Given the description of an element on the screen output the (x, y) to click on. 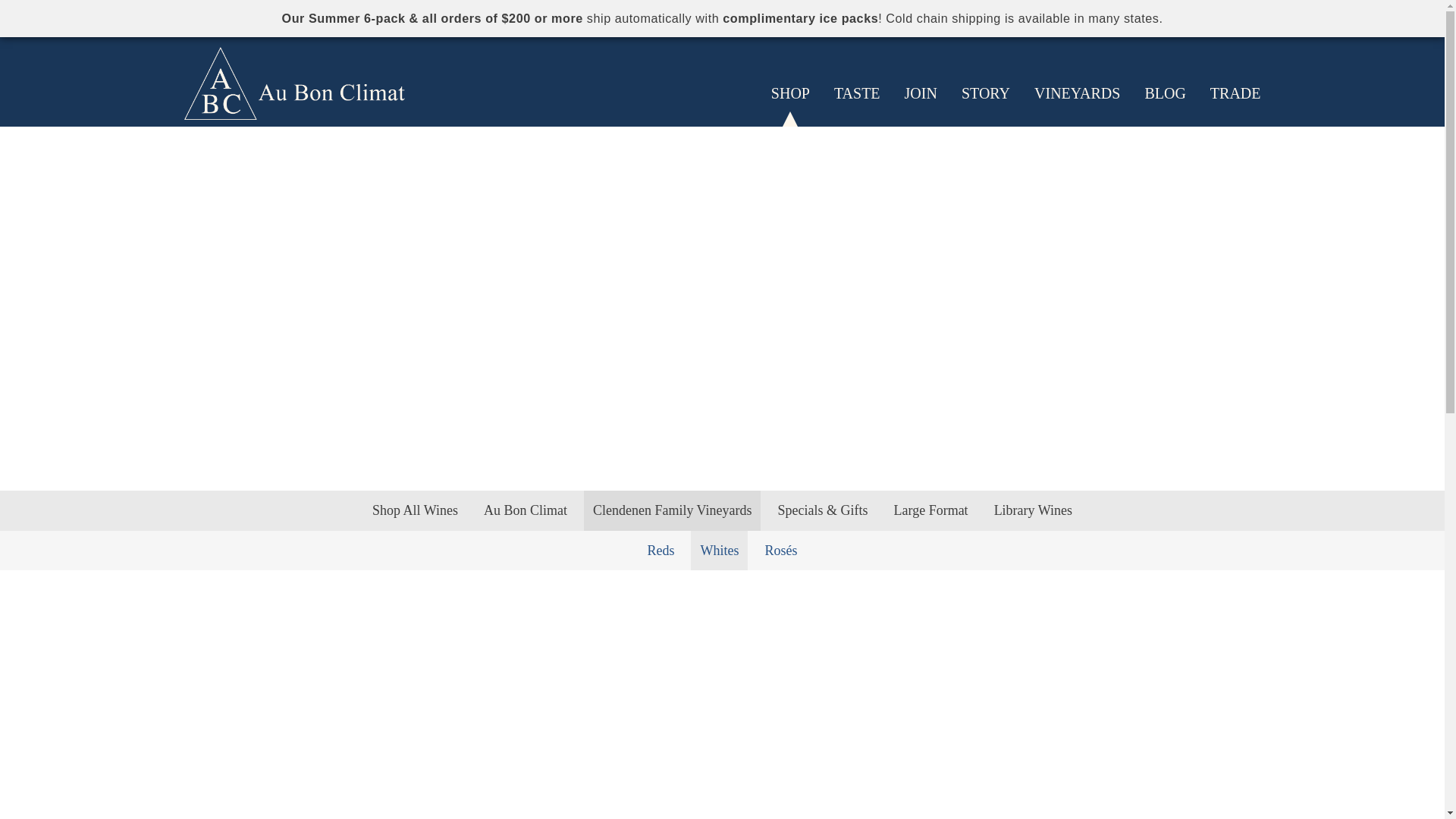
JOIN (920, 93)
Shop All Wines (415, 509)
TASTE (857, 93)
STORY (985, 93)
TRADE (1234, 93)
SHOP (790, 93)
VINEYARDS (1076, 93)
BLOG (1164, 93)
